Given the description of an element on the screen output the (x, y) to click on. 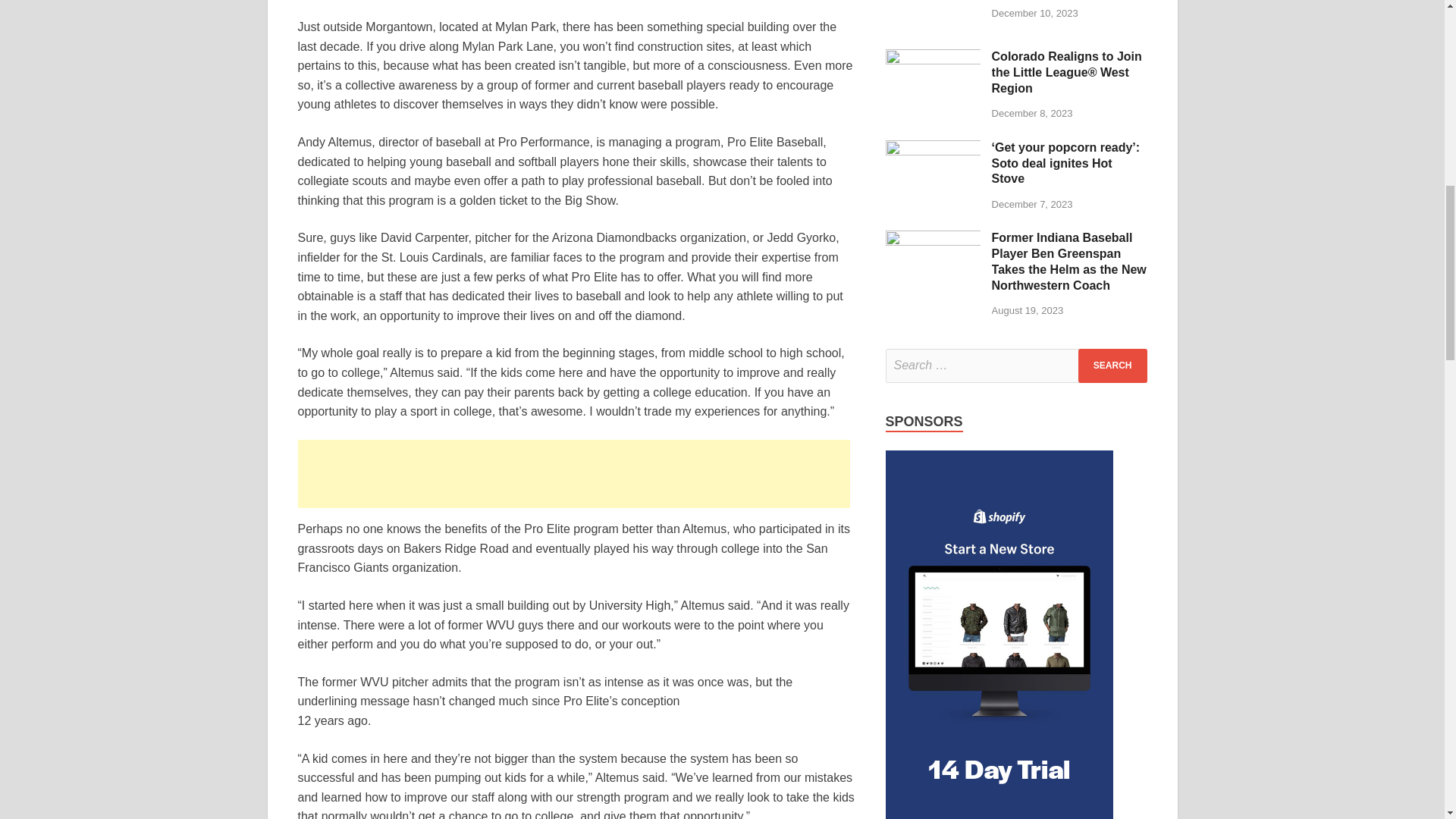
Search (1112, 365)
Search (1112, 365)
